Given the description of an element on the screen output the (x, y) to click on. 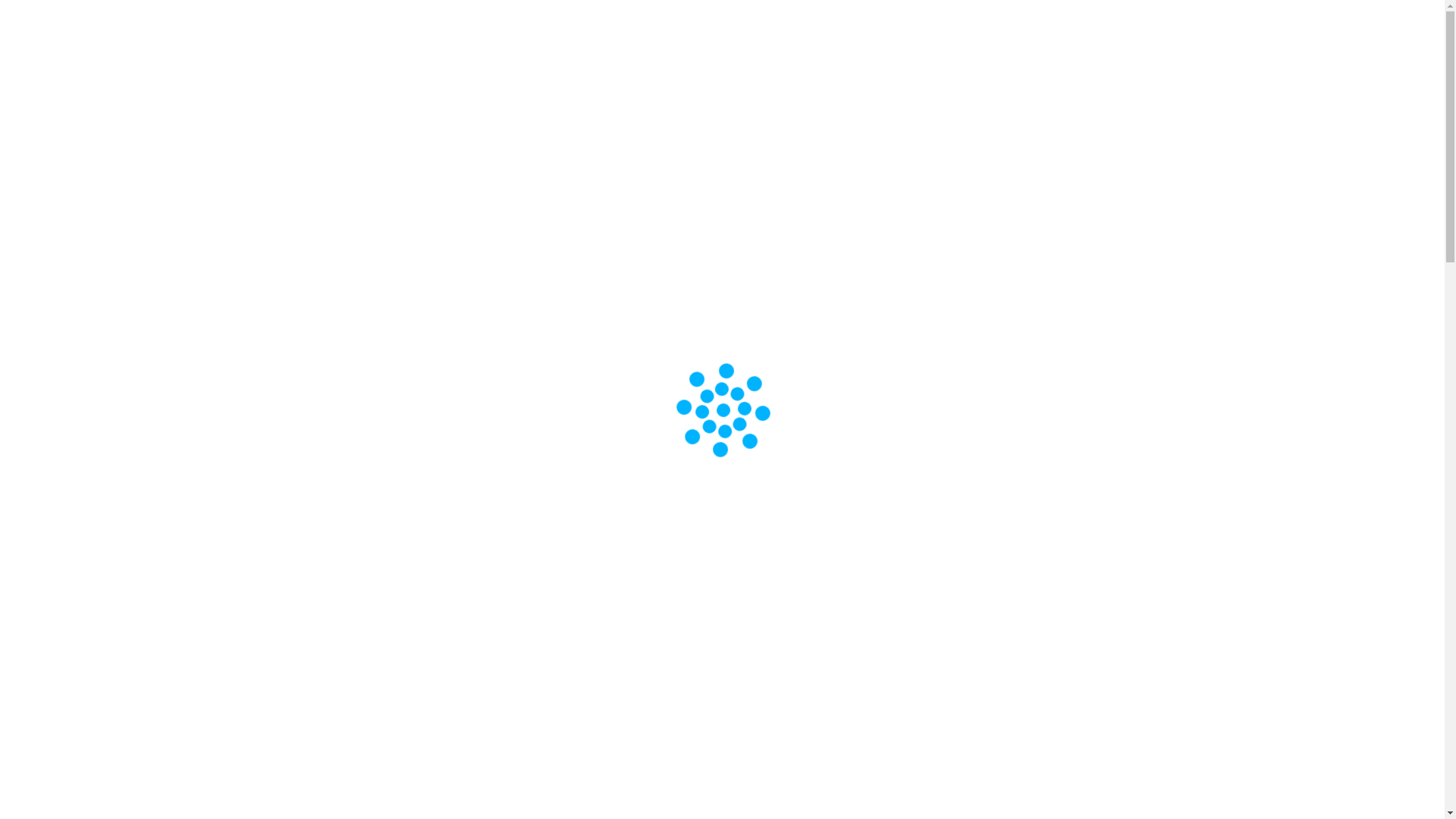
MALADIES Element type: text (776, 91)
la presbytie Element type: text (323, 773)
astigmatisme Element type: text (597, 792)
TECHNOLOGIES Element type: text (880, 91)
maladies Element type: text (310, 179)
DOCTEURS Element type: text (684, 91)
myopie Element type: text (414, 792)
implant2 Element type: hover (721, 617)
CONTACT Element type: text (983, 91)
implant1 Element type: hover (722, 385)
Home Element type: text (293, 153)
